Given the description of an element on the screen output the (x, y) to click on. 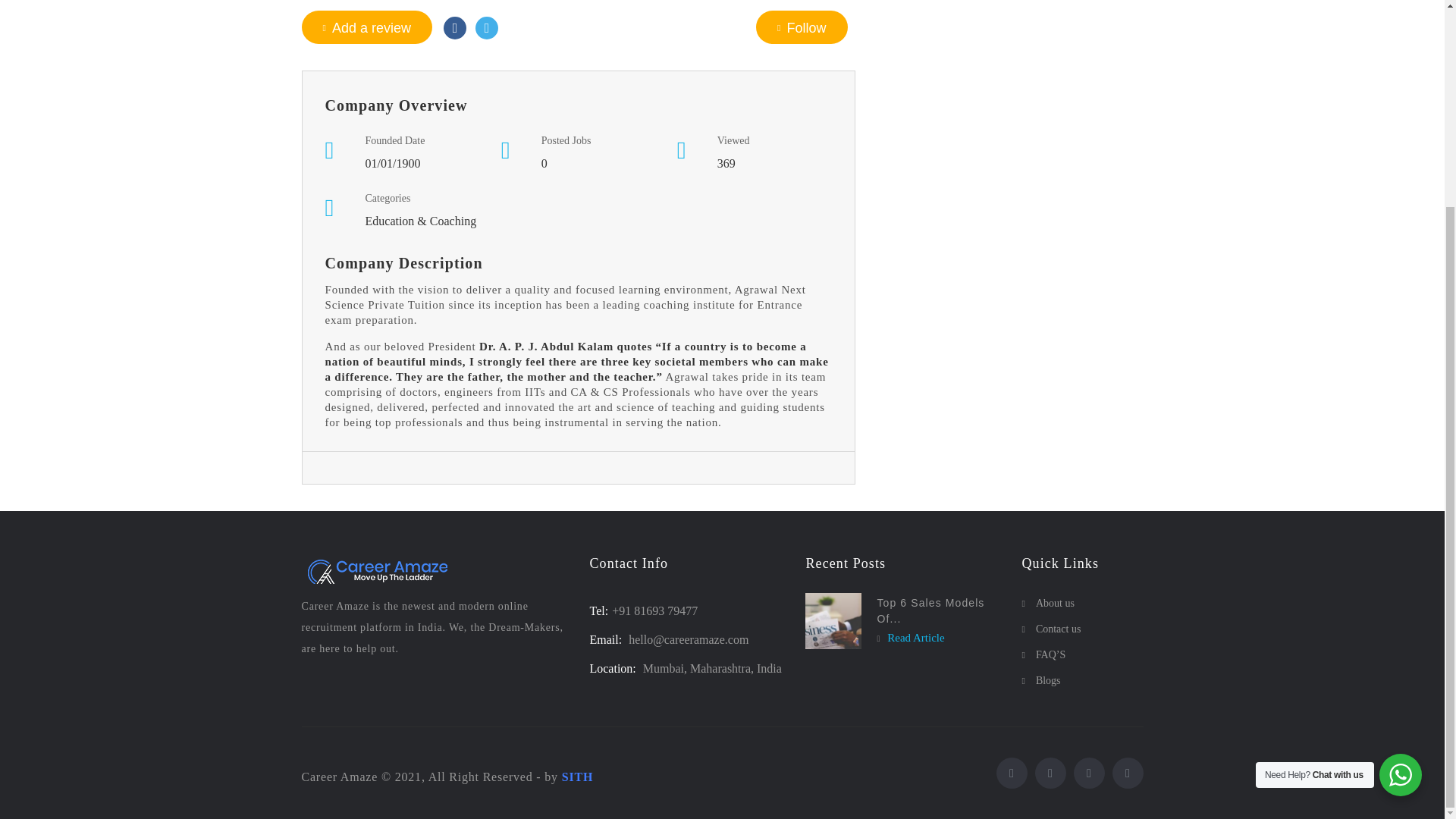
Read Article (909, 637)
Blogs (1082, 680)
Add a review (366, 27)
Top 6 Sales Models Of... (930, 610)
Email: (607, 639)
About us (1082, 603)
Top 6 sales models of business you must know (833, 619)
Follow (801, 27)
Contact us (1082, 629)
